Given the description of an element on the screen output the (x, y) to click on. 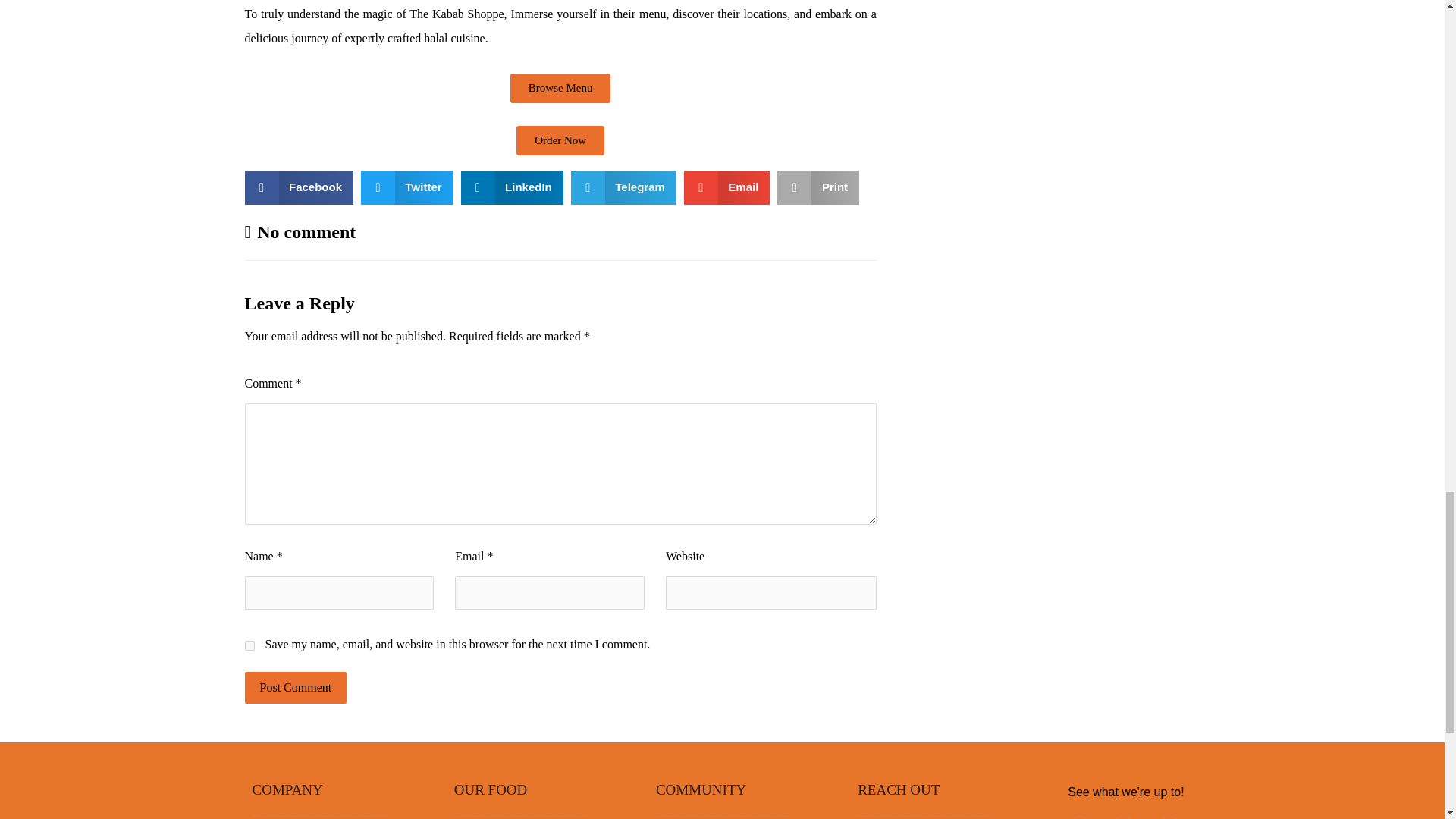
Order Now (560, 140)
Post Comment (295, 687)
Browse Menu (561, 88)
yes (248, 645)
Post Comment (295, 687)
